Given the description of an element on the screen output the (x, y) to click on. 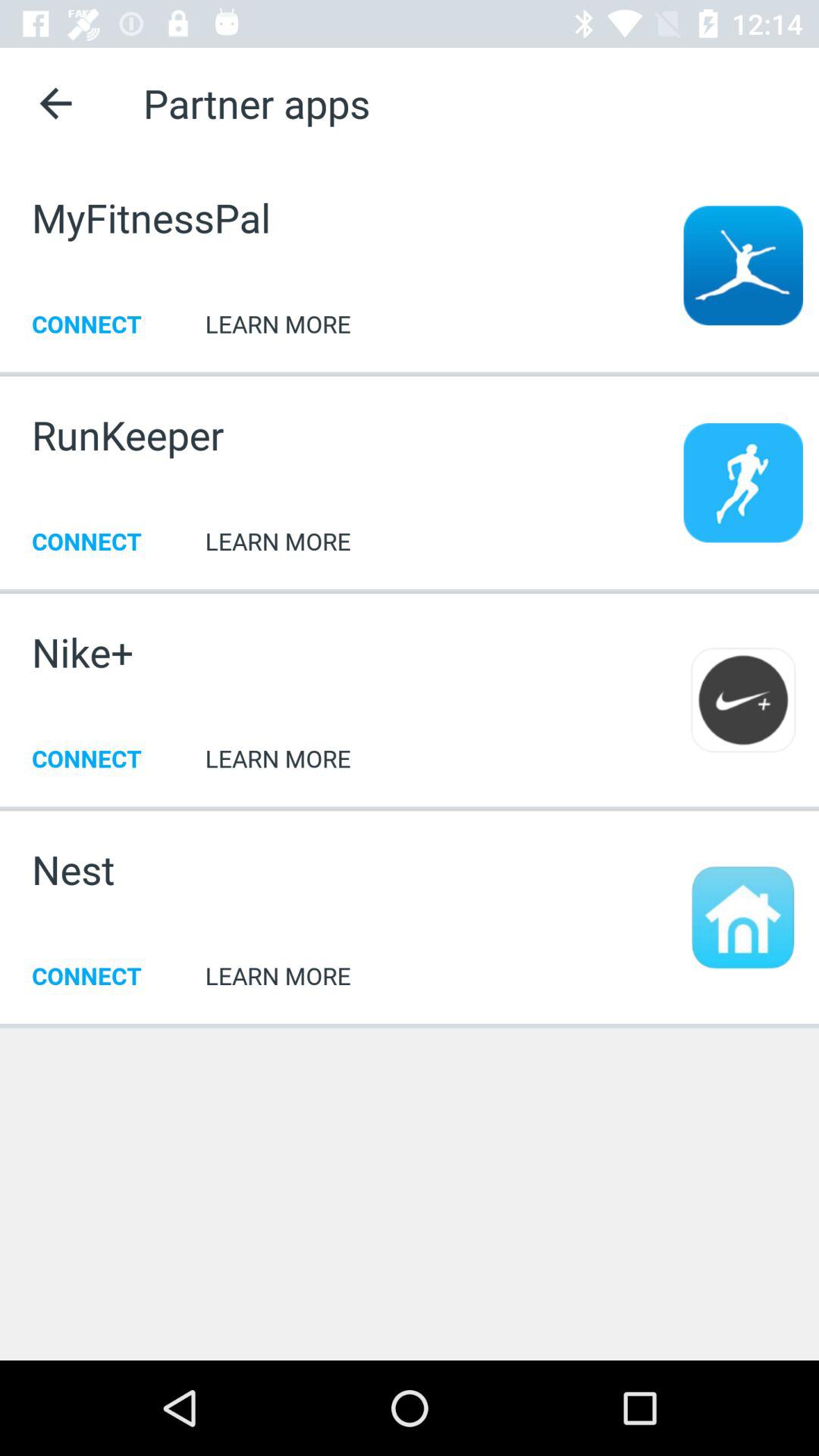
turn on the icon above connect icon (82, 651)
